Given the description of an element on the screen output the (x, y) to click on. 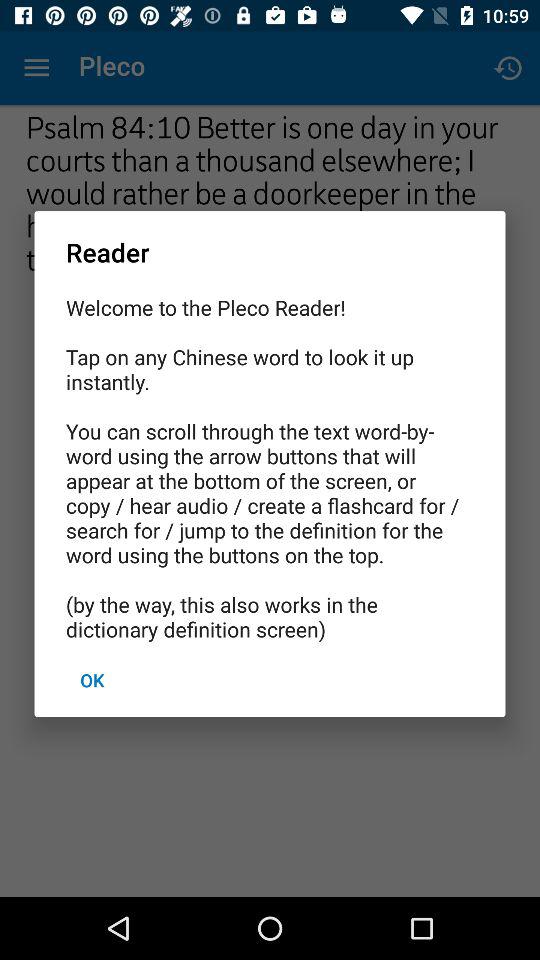
turn on item below welcome to the (92, 679)
